Given the description of an element on the screen output the (x, y) to click on. 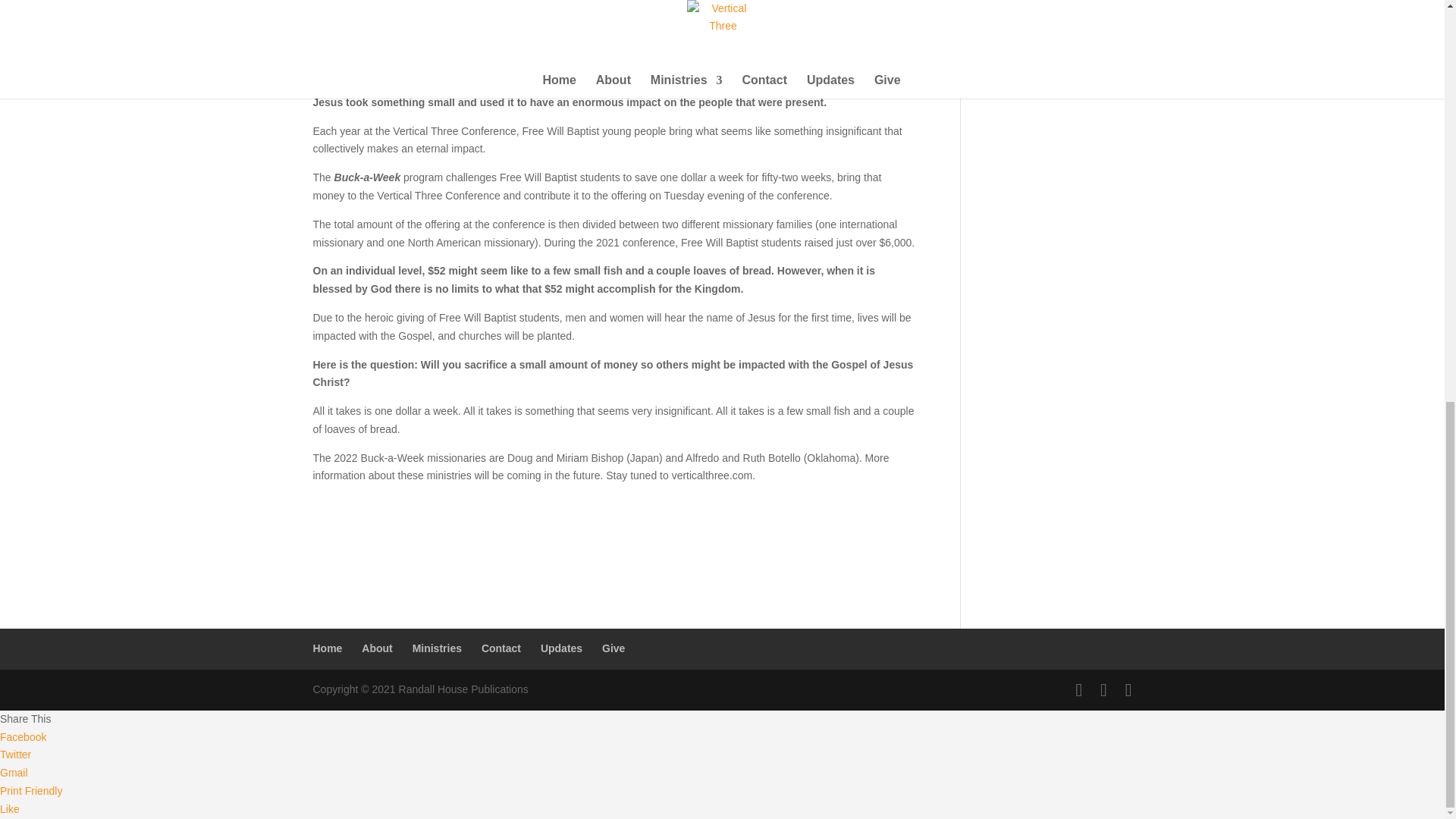
Contact (501, 648)
Home (327, 648)
V3 Conference (1019, 18)
Vertical Three (1016, 41)
About (376, 648)
Ministries (436, 648)
